Given the description of an element on the screen output the (x, y) to click on. 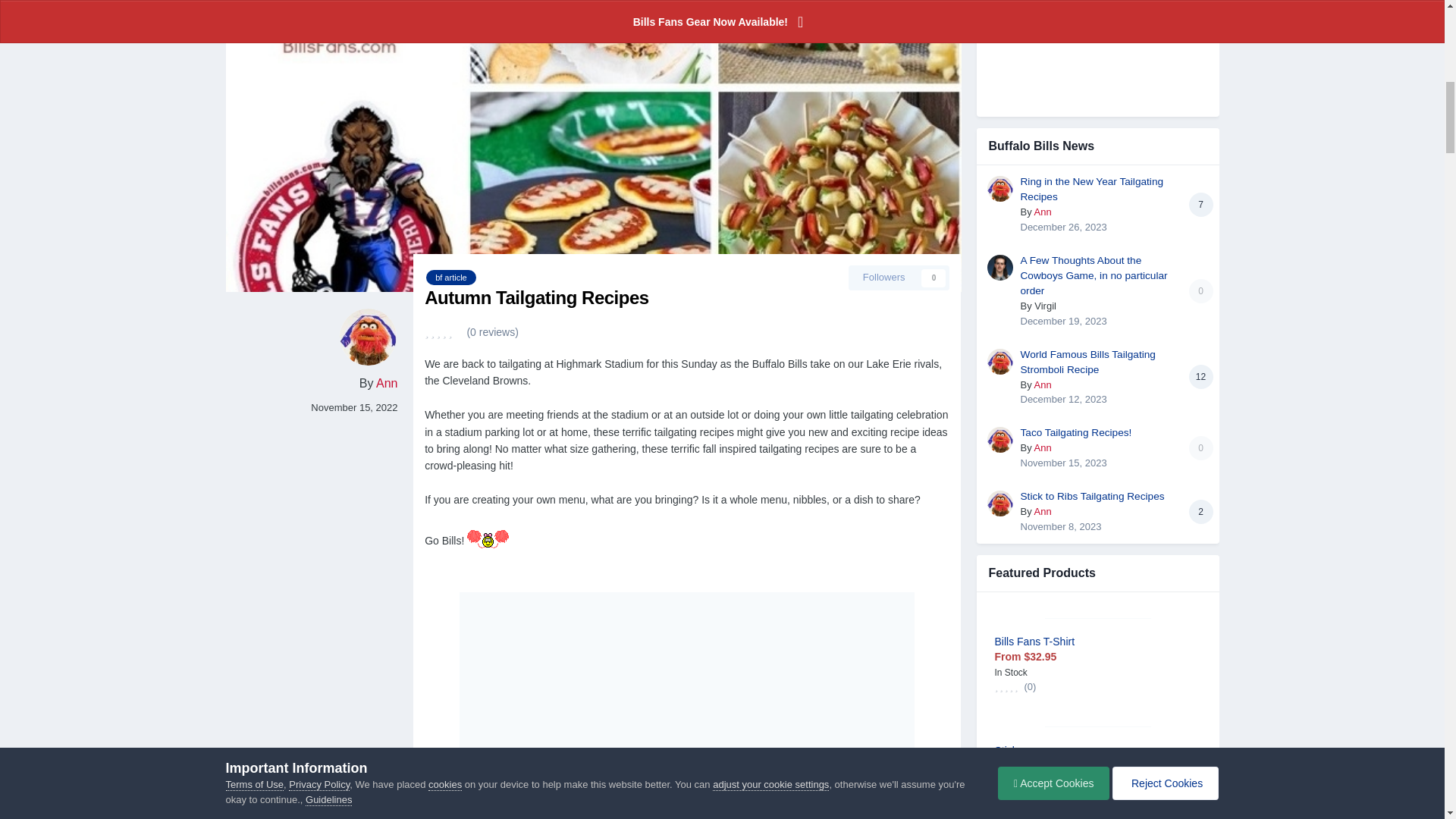
Sign in to follow this (899, 277)
Enlarge image (687, 815)
:cheer2: (487, 541)
Find other content tagged with 'bf article' (451, 277)
